Given the description of an element on the screen output the (x, y) to click on. 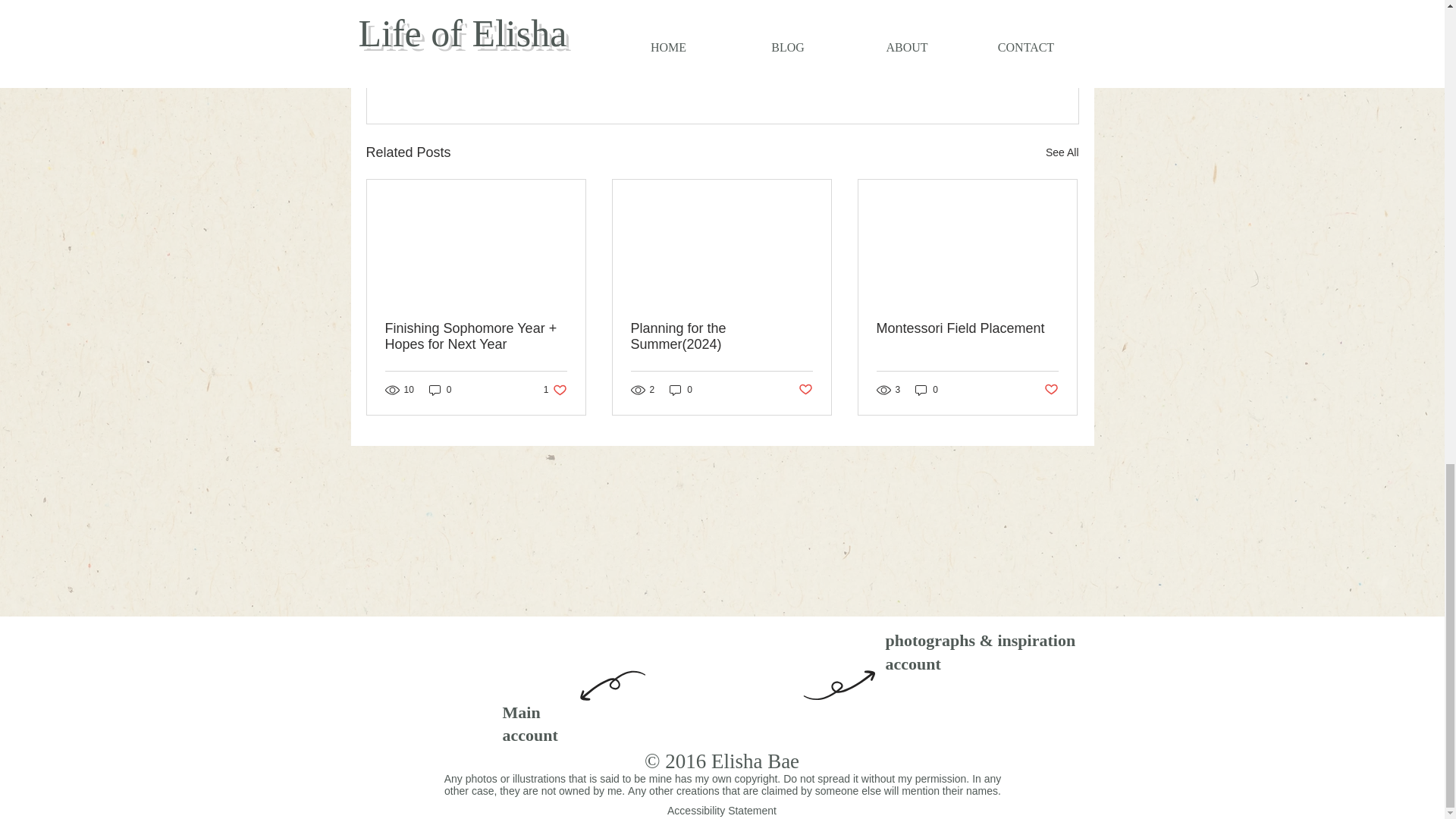
0 (926, 390)
Post not marked as liked (995, 69)
0 (440, 390)
Accessibility Statement (721, 810)
0 (681, 390)
See All (1061, 152)
Montessori Field Placement (967, 328)
Post not marked as liked (555, 390)
Post not marked as liked (804, 390)
